Given the description of an element on the screen output the (x, y) to click on. 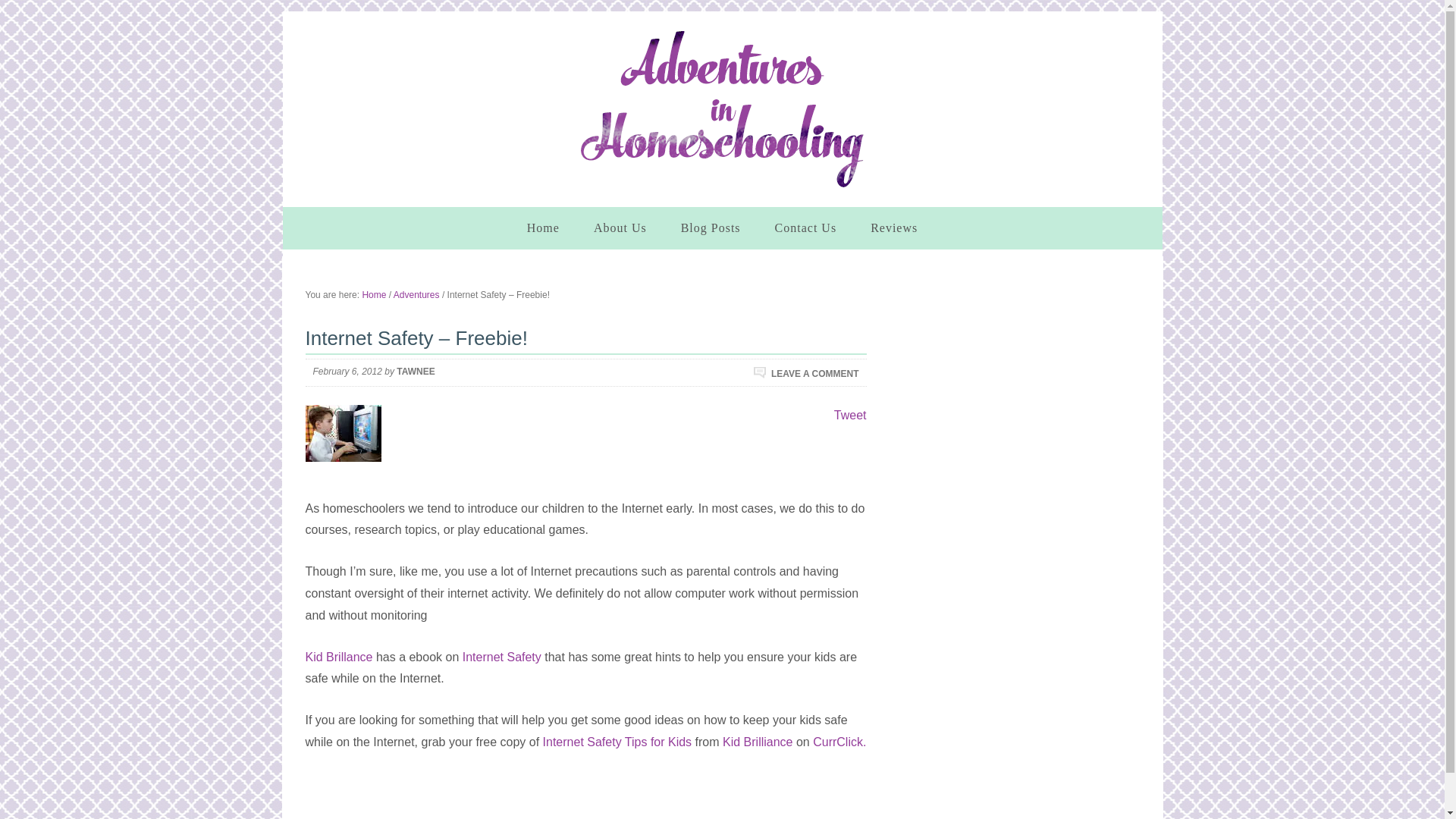
Adventures (416, 294)
Reviews (894, 228)
Contact Us (805, 228)
Home (373, 294)
Internet Safety Tips for Kids (619, 741)
Blog Posts (710, 228)
Internet Safety (502, 656)
Home (543, 228)
CurrClick. (839, 741)
TAWNEE (414, 371)
